Given the description of an element on the screen output the (x, y) to click on. 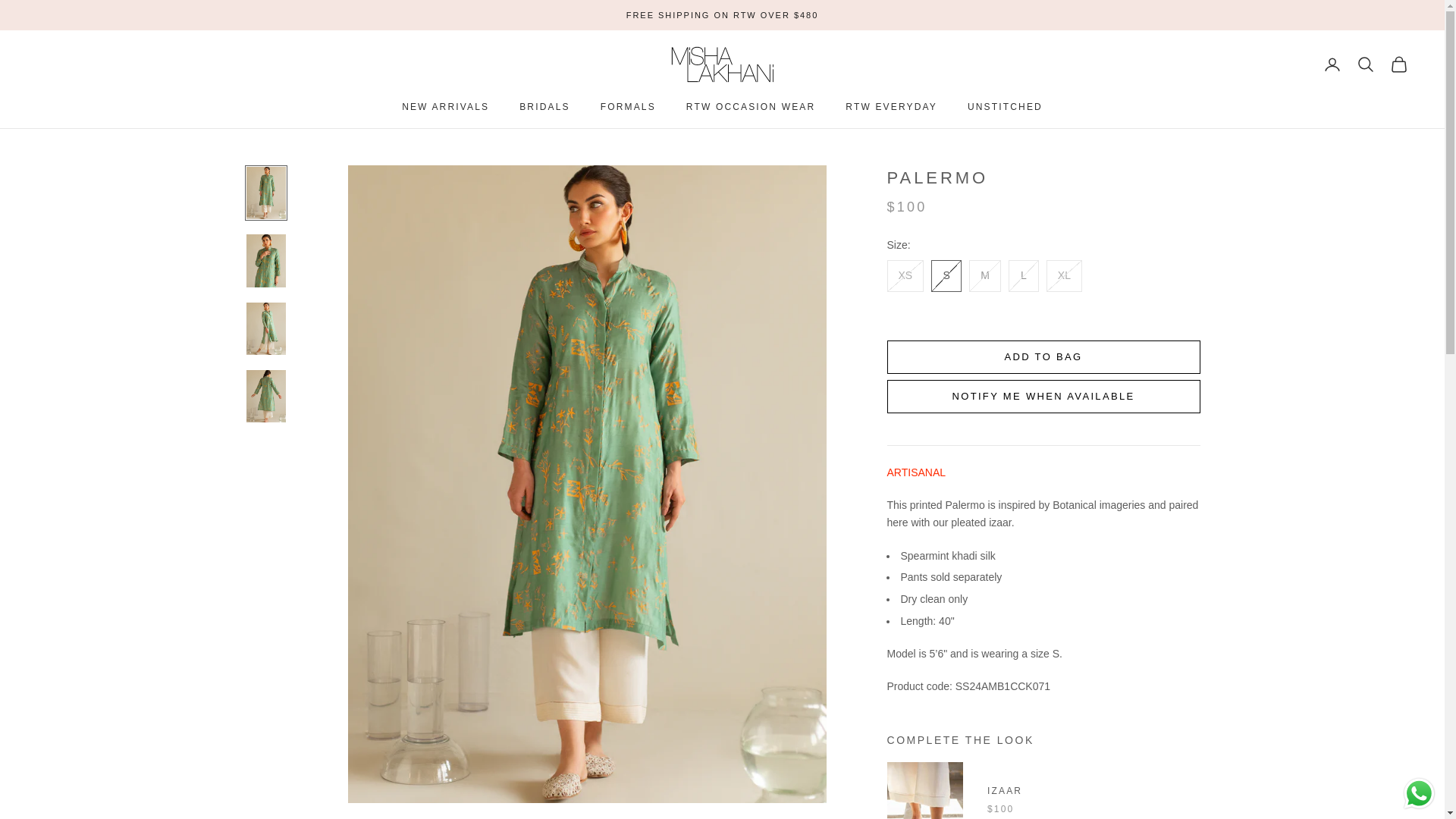
UNSTITCHED (1005, 106)
Misha Lakhani (721, 64)
Open account page (1331, 64)
NEW ARRIVALS (445, 106)
